Given the description of an element on the screen output the (x, y) to click on. 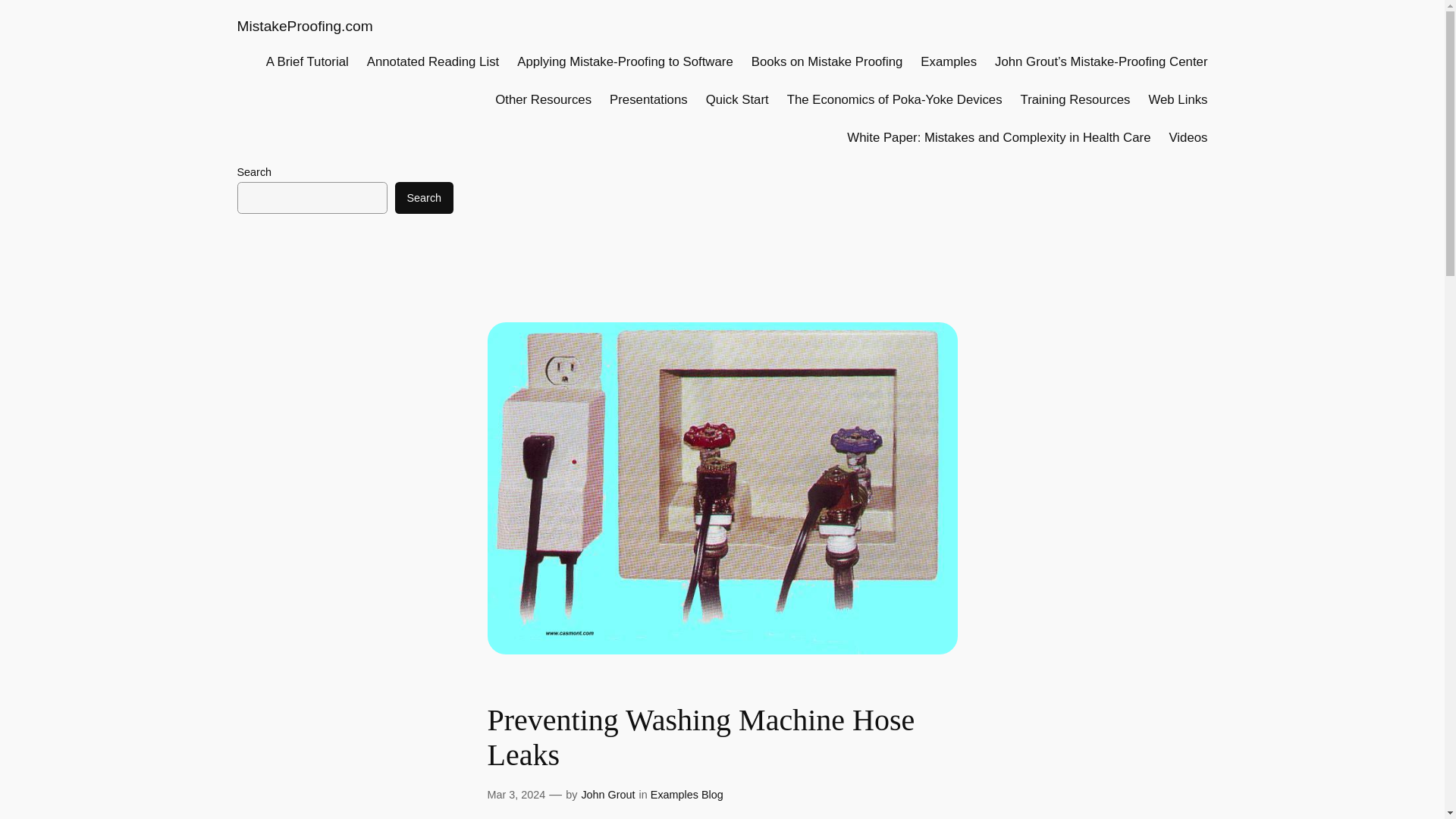
Search (423, 197)
Presentations (648, 99)
The Economics of Poka-Yoke Devices (895, 99)
Training Resources (1075, 99)
Quick Start (737, 99)
White Paper: Mistakes and Complexity in Health Care (998, 137)
Applying Mistake-Proofing to Software (624, 62)
Web Links (1177, 99)
Books on Mistake Proofing (826, 62)
Other Resources (543, 99)
Videos (1188, 137)
MistakeProofing.com (303, 26)
Examples (948, 62)
Examples Blog (686, 794)
John Grout (607, 794)
